Given the description of an element on the screen output the (x, y) to click on. 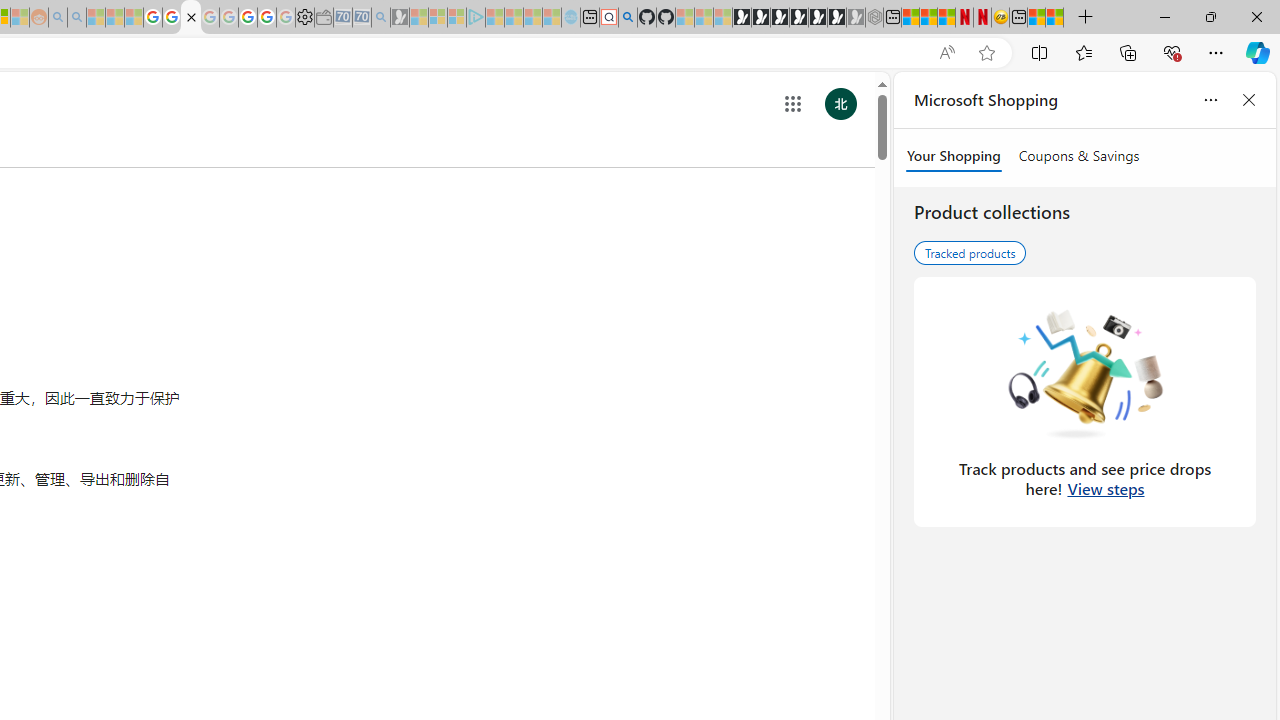
Wildlife - MSN (1035, 17)
